Given the description of an element on the screen output the (x, y) to click on. 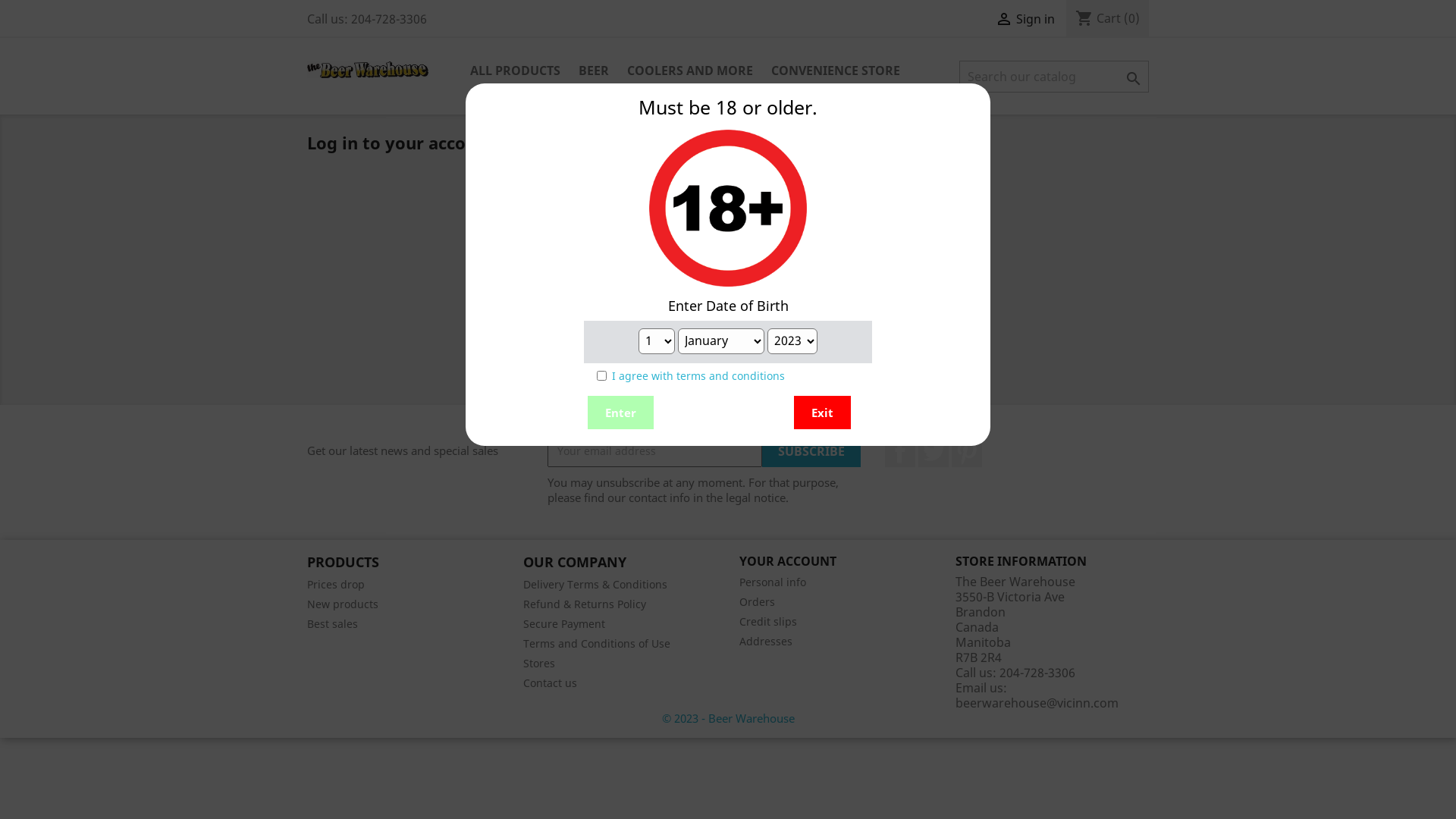
Orders Element type: text (757, 601)
Exit Element type: text (821, 412)
Contact us Element type: text (550, 682)
Best sales Element type: text (332, 623)
Prices drop Element type: text (335, 584)
YOUR ACCOUNT Element type: text (787, 560)
At least 5 characters long Element type: hover (702, 249)
Twitter Element type: text (933, 451)
Personal info Element type: text (772, 581)
Subscribe Element type: text (811, 451)
beerwarehouse@vicinn.com Element type: text (1036, 702)
SIGN IN Element type: text (728, 318)
Refund & Returns Policy Element type: text (584, 603)
Delivery Terms & Conditions Element type: text (595, 584)
SHOW Element type: text (812, 250)
I agree with terms and conditions Element type: text (697, 376)
No account? Create one here Element type: text (728, 365)
Stores Element type: text (539, 662)
COOLERS AND MORE Element type: text (689, 71)
ALL PRODUCTS Element type: text (514, 71)
Credit slips Element type: text (768, 621)
CONVENIENCE STORE Element type: text (835, 71)
Facebook Element type: text (899, 451)
Terms and Conditions of Use Element type: text (596, 643)
Pinterest Element type: text (966, 451)
Secure Payment Element type: text (564, 623)
New products Element type: text (342, 603)
Enter Element type: text (620, 412)
Forgot your password? Element type: text (728, 284)
Addresses Element type: text (765, 640)
BEER Element type: text (593, 71)
